Given the description of an element on the screen output the (x, y) to click on. 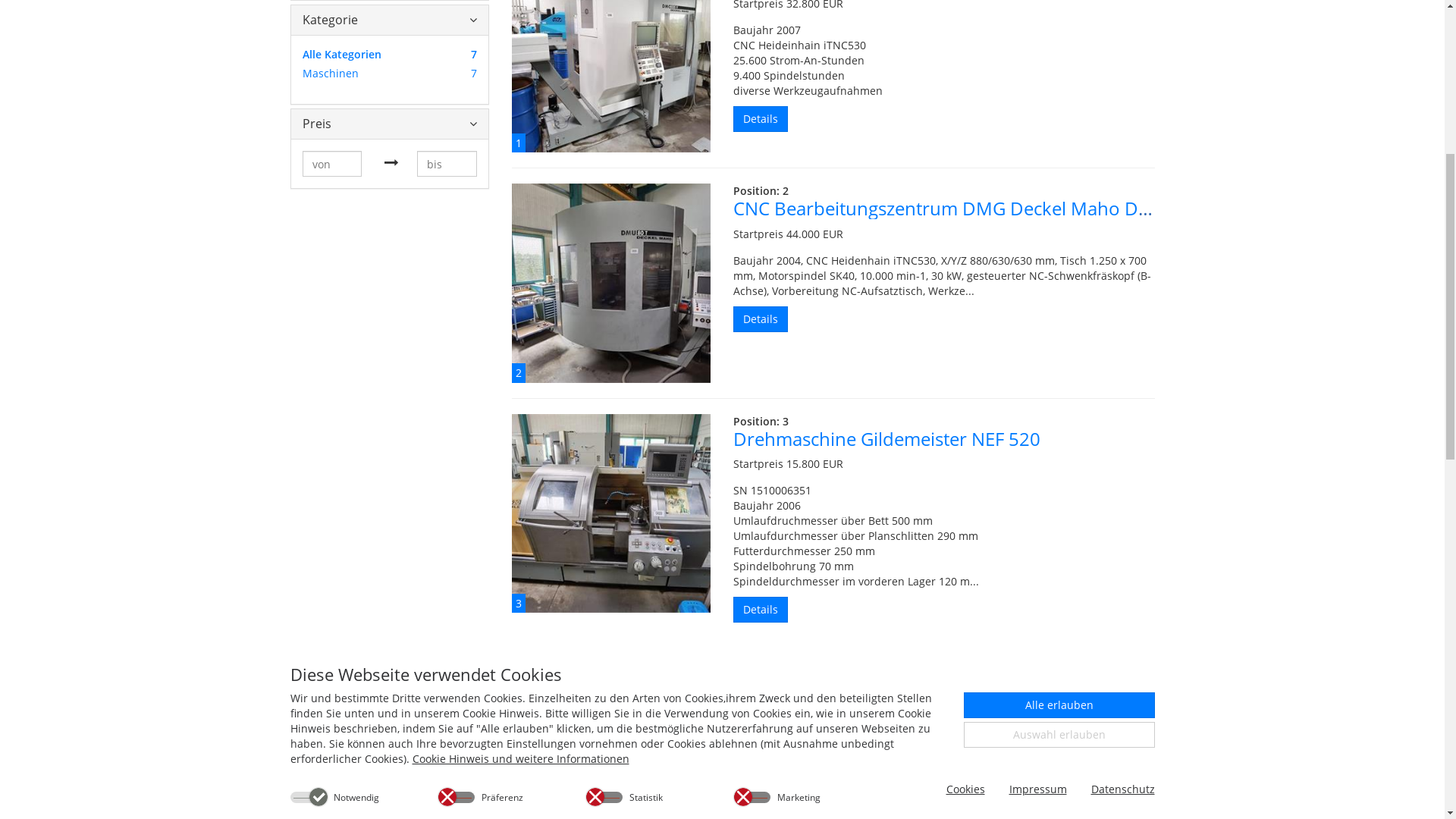
Sortierung (Katalognummer) Element type: text (878, 304)
Kategorie Element type: text (379, 402)
Informationen Element type: text (1101, 231)
Mein Konto Element type: text (1375, 55)
24 Element type: text (529, 304)
Registrieren Element type: text (1331, 125)
96 Element type: text (602, 304)
Online-Katalog Element type: text (988, 231)
Details Element type: text (760, 501)
CNC Bearbeitungszentrum Deckel Maho DMC 635V Element type: text (949, 360)
AGB Element type: text (1400, 25)
Details Element type: text (760, 702)
7
Maschinen Element type: text (362, 459)
Newsletter Element type: text (1286, 55)
7
Alle Kategorien Element type: text (362, 440)
Auktionen Element type: text (1199, 55)
2 Element type: text (610, 665)
48 Element type: text (566, 304)
1 Element type: text (610, 435)
Zur Hauptseite Element type: text (1101, 55)
 Anmelden Element type: text (1396, 125)
CNC Bearbeitungszentrum DMG Deckel Maho DMU 80T Element type: text (968, 590)
Impressum Element type: text (1263, 25)
Preis Element type: text (379, 506)
Datenschutz Element type: text (1340, 25)
